Given the description of an element on the screen output the (x, y) to click on. 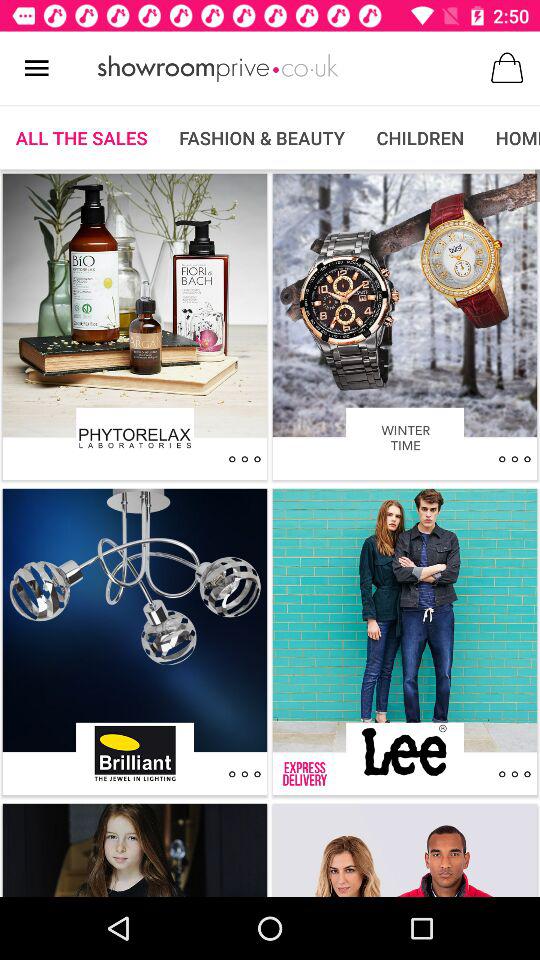
open other options (514, 774)
